Given the description of an element on the screen output the (x, y) to click on. 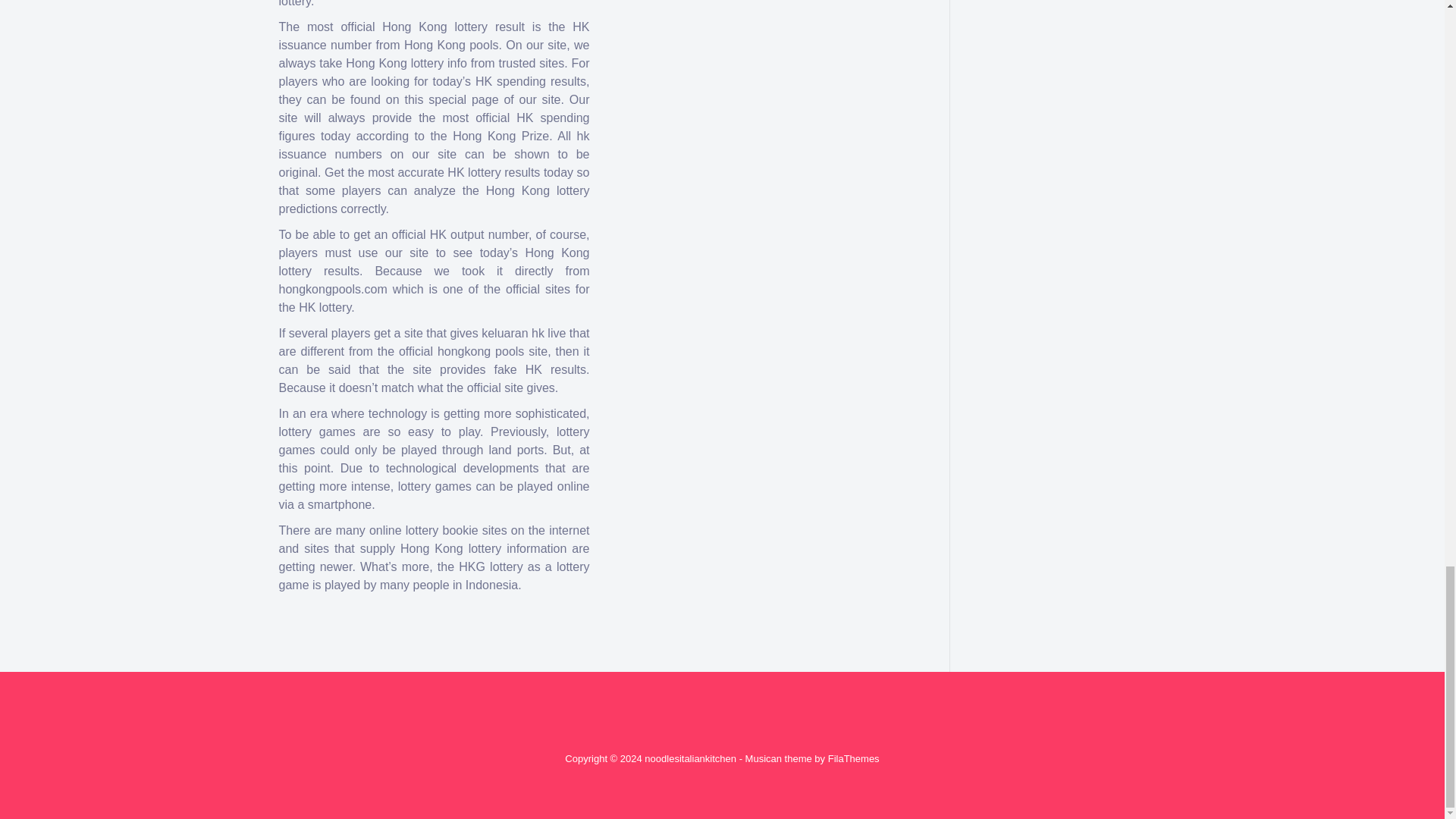
keluaran hk (512, 332)
noodlesitaliankitchen (690, 758)
